Given the description of an element on the screen output the (x, y) to click on. 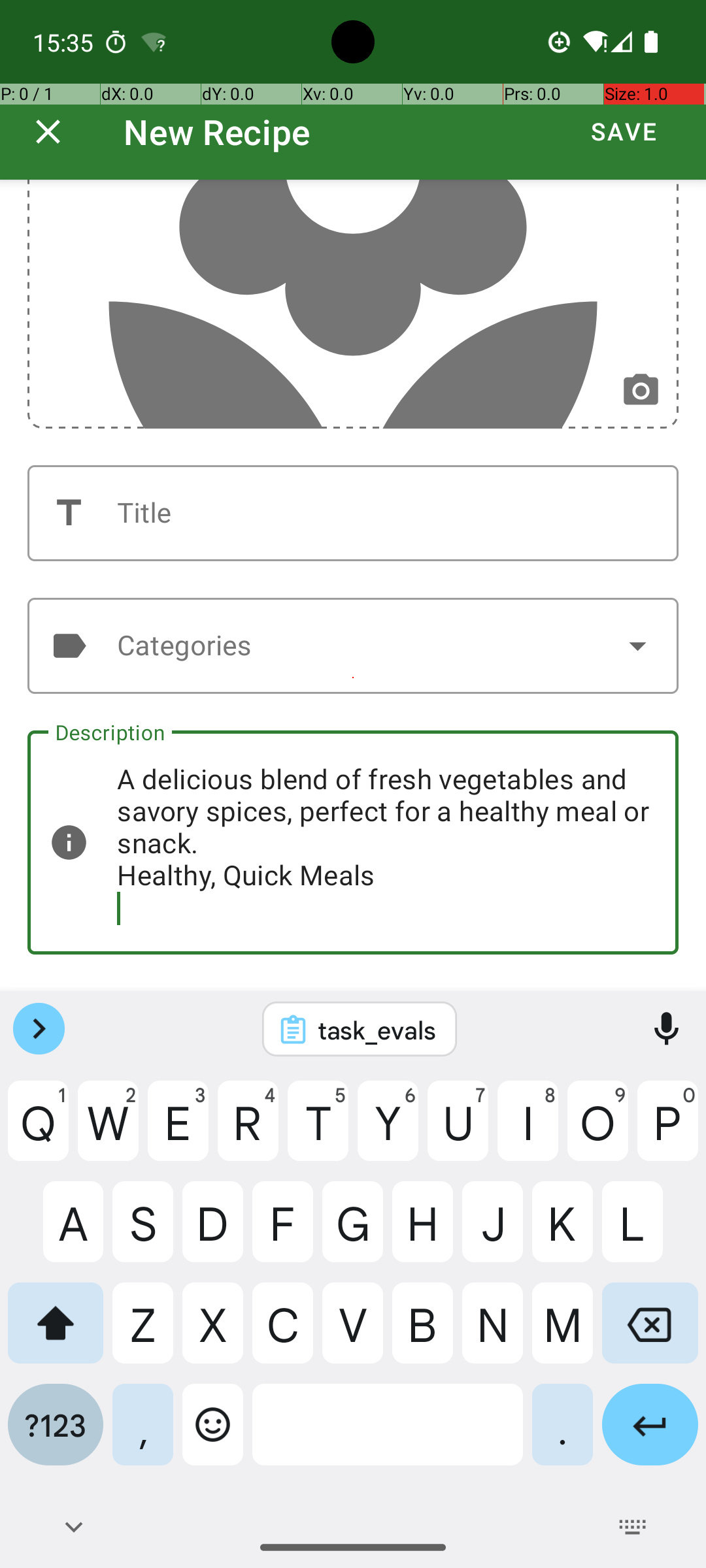
A delicious blend of fresh vegetables and savory spices, perfect for a healthy meal or snack.
Healthy, Quick Meals
 Element type: android.widget.EditText (352, 842)
